Given the description of an element on the screen output the (x, y) to click on. 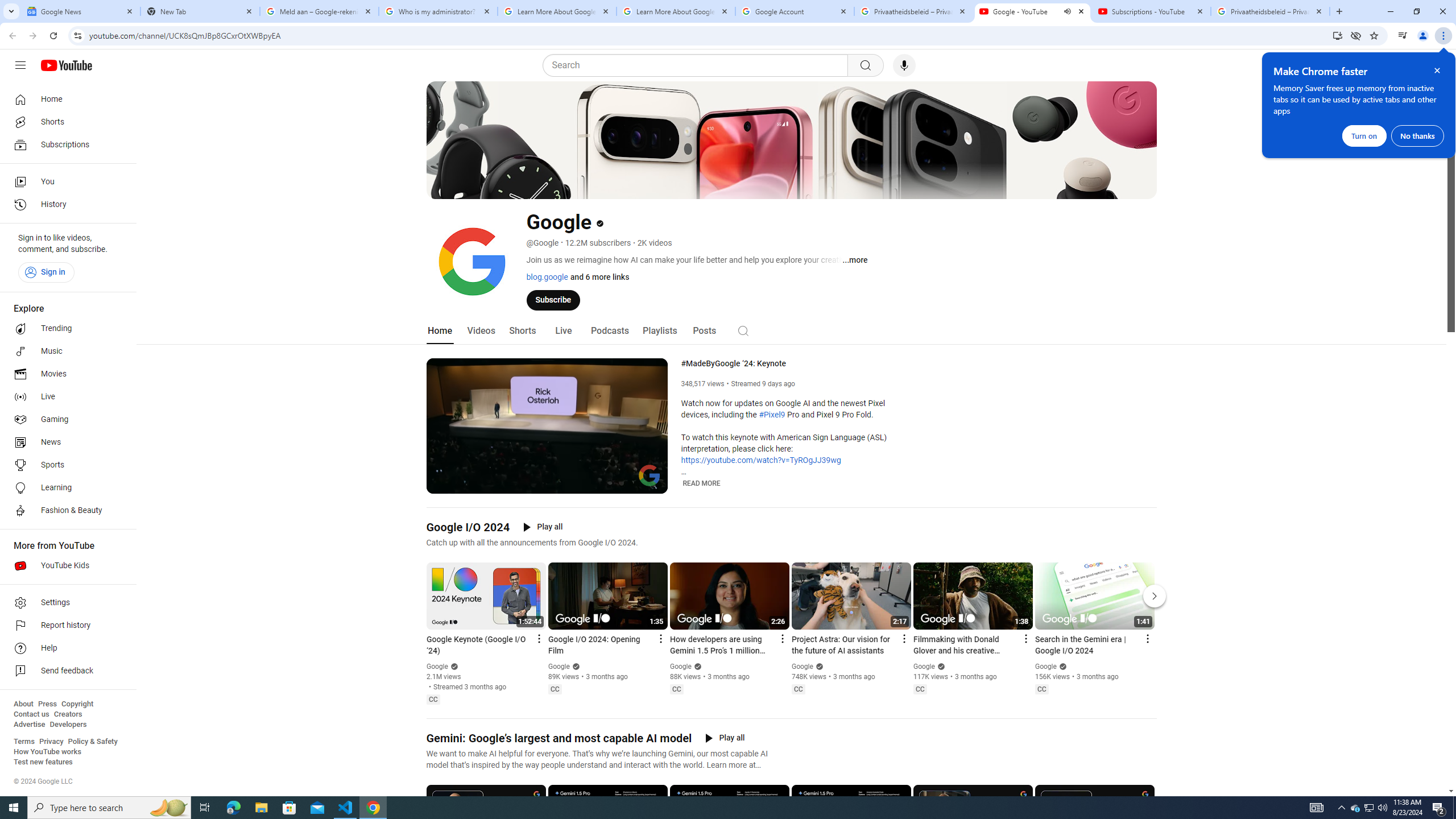
Settings (629, 483)
Guide (20, 65)
Pause (k) (443, 483)
Google News (80, 11)
MadeByGoogle '24: Intro (560, 483)
Full screen (f) (650, 483)
Verified (1061, 665)
